Given the description of an element on the screen output the (x, y) to click on. 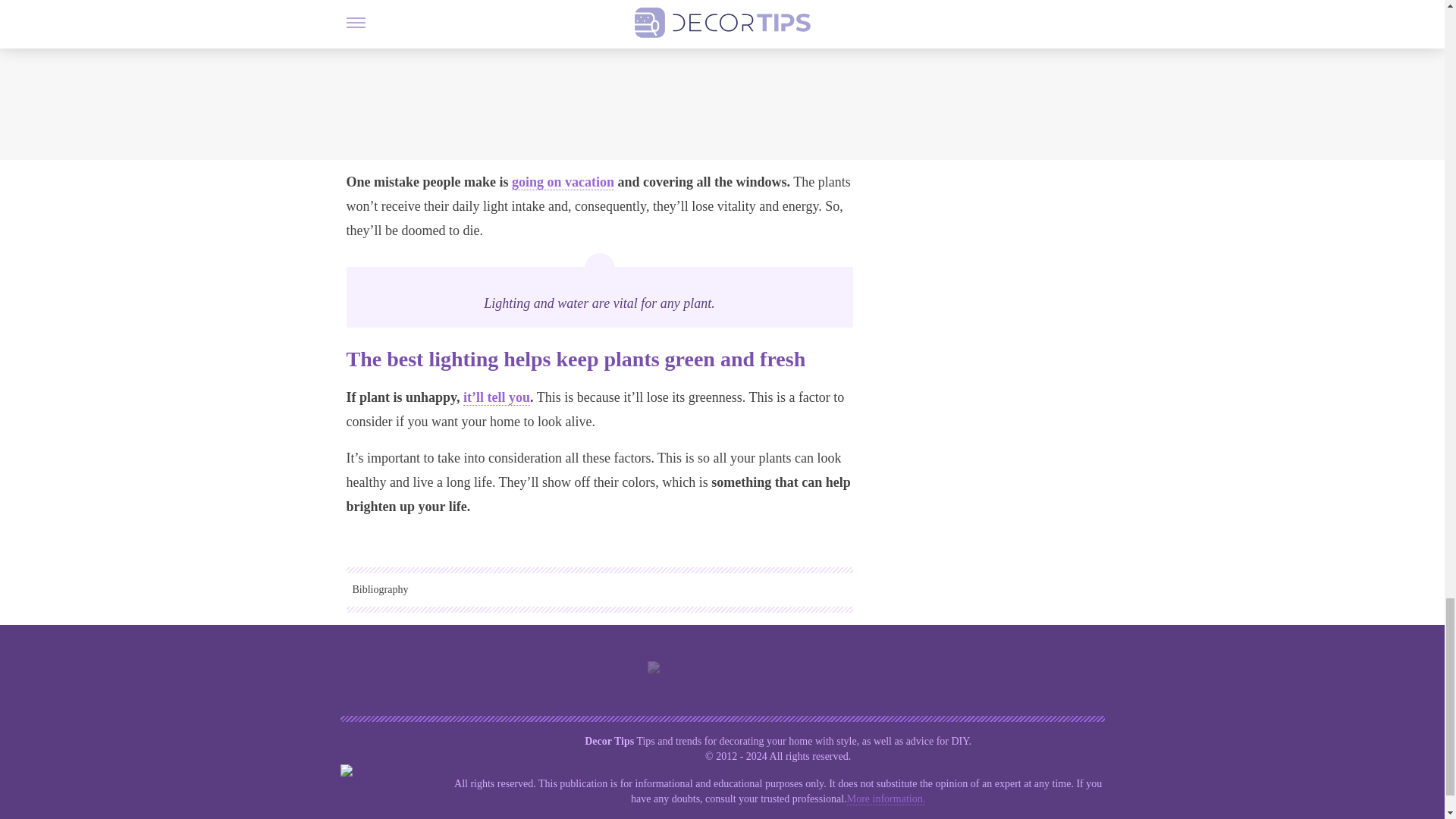
going on vacation (563, 182)
More information. (885, 799)
Bibliography (598, 589)
